Given the description of an element on the screen output the (x, y) to click on. 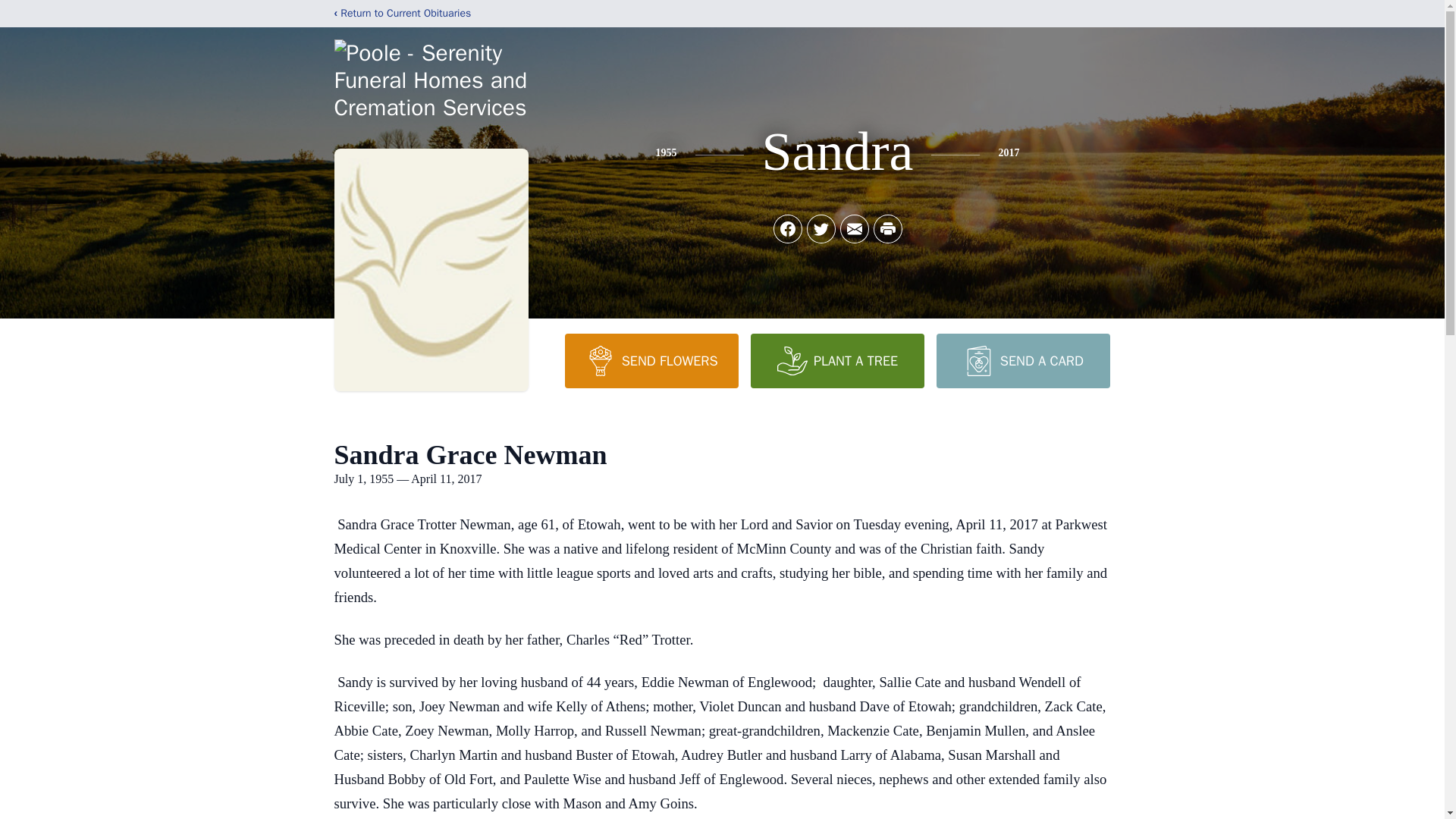
SEND A CARD (1022, 360)
SEND FLOWERS (651, 360)
PLANT A TREE (837, 360)
